Given the description of an element on the screen output the (x, y) to click on. 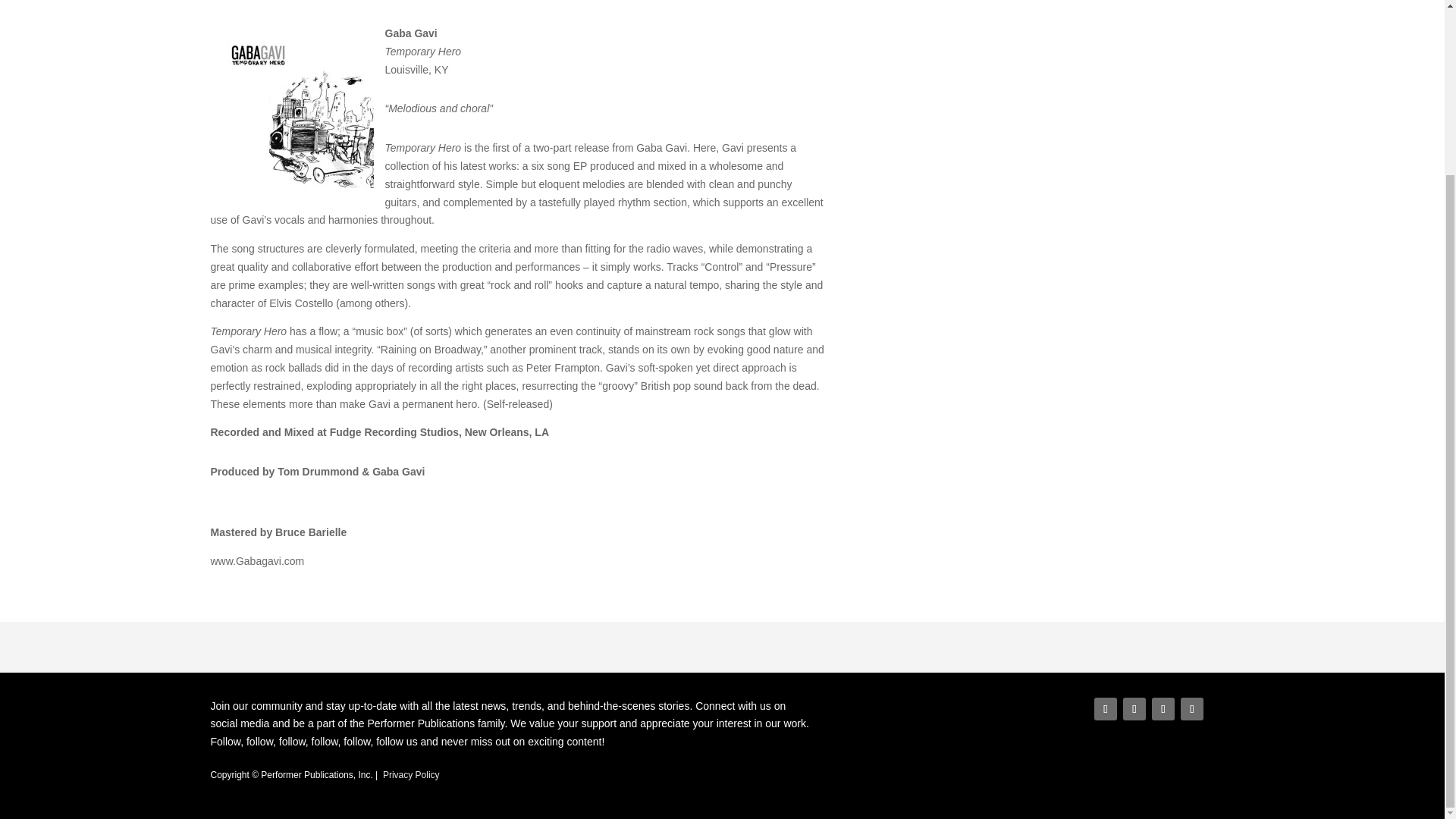
Follow on Facebook (1105, 708)
Follow on X (1133, 708)
Follow on Youtube (1192, 708)
Follow on Instagram (1162, 708)
gaba gavi (296, 112)
